Given the description of an element on the screen output the (x, y) to click on. 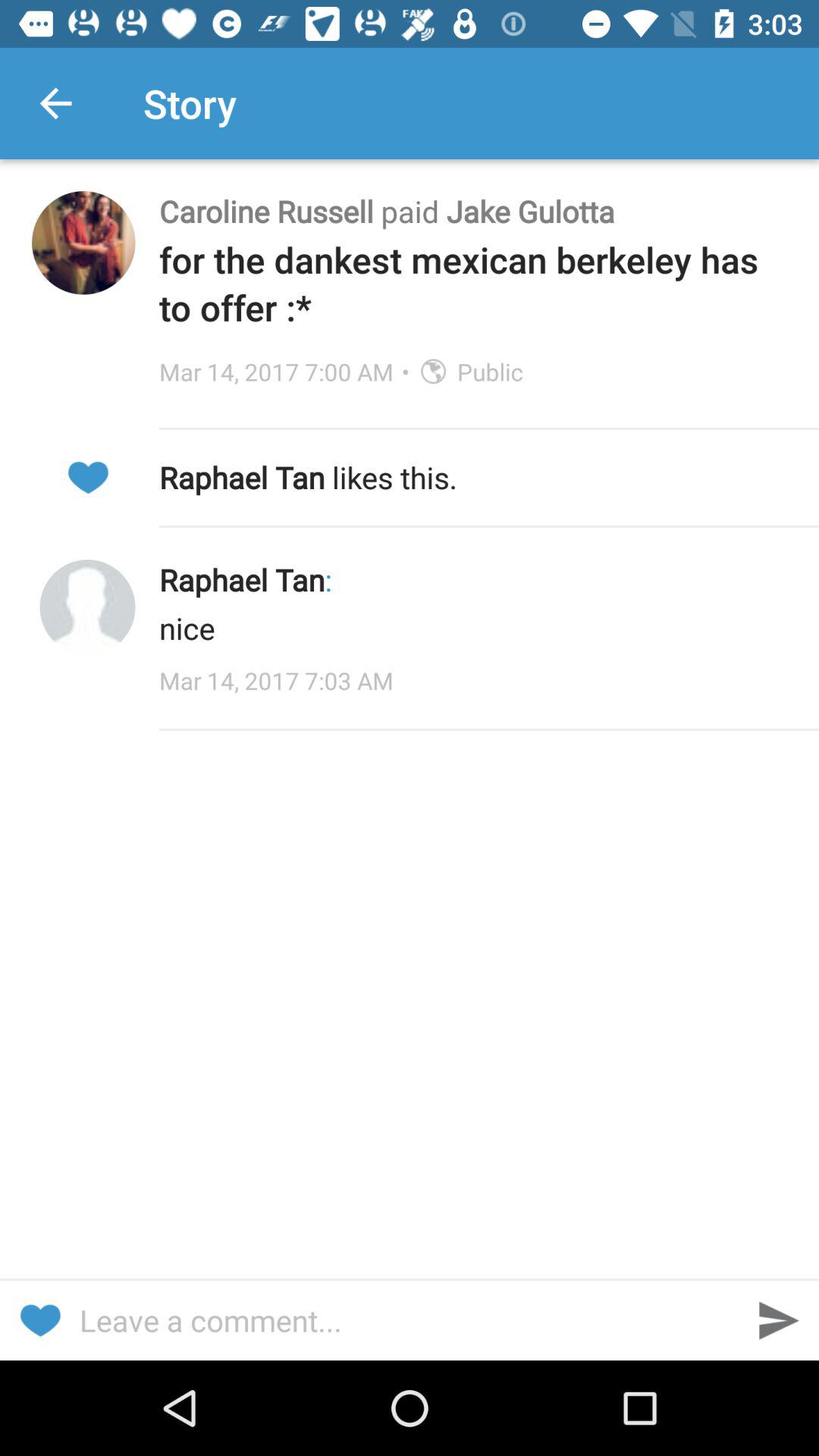
go to profile picture (87, 607)
